Given the description of an element on the screen output the (x, y) to click on. 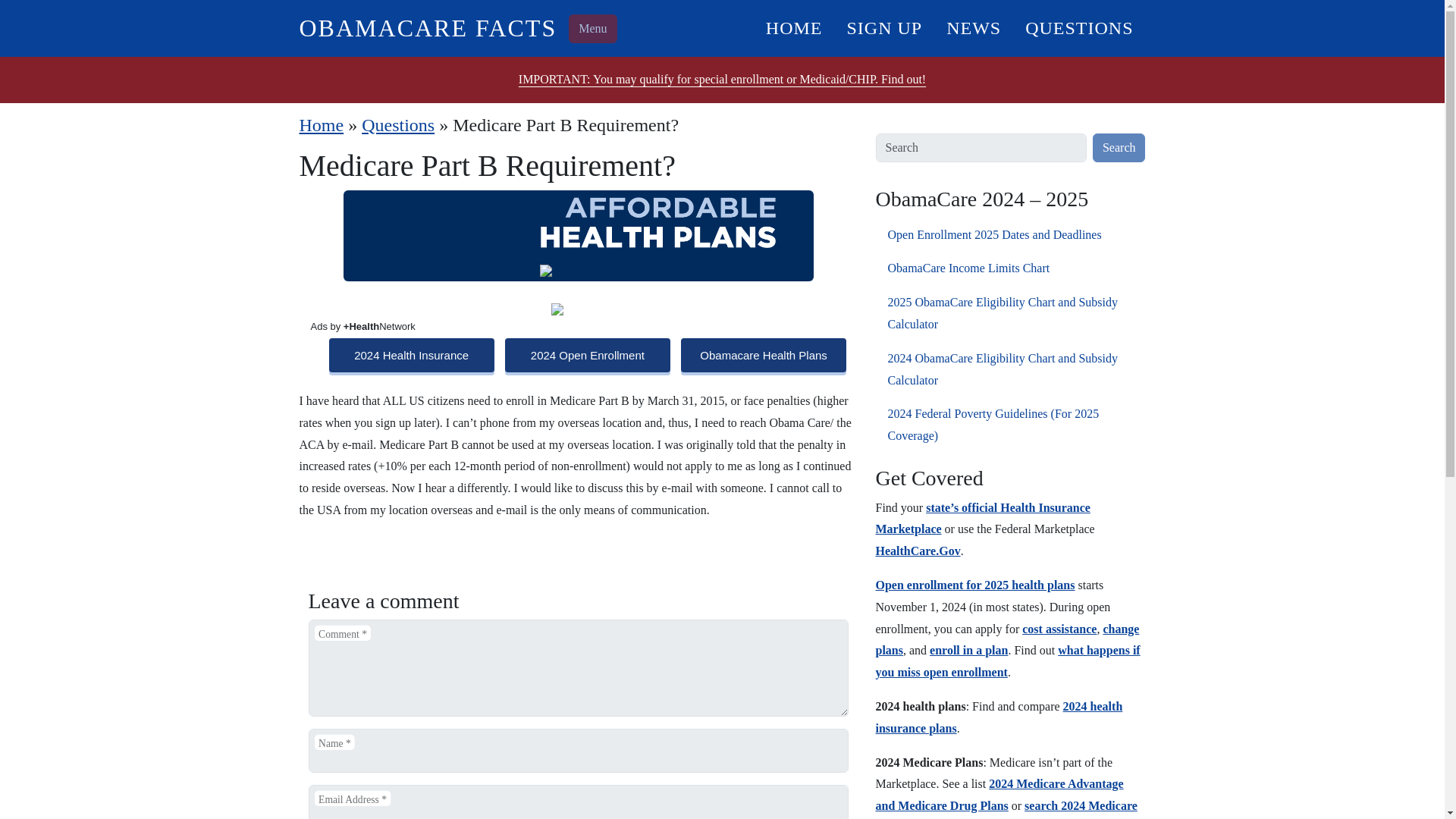
QUESTIONS (1078, 27)
2024 health insurance plans (998, 717)
What happens if you miss open enrollment (1007, 660)
Change Obamacare plans (1006, 639)
Open enrollment for 2025 health plans (974, 584)
OBAMACARE FACTS (427, 28)
2024 Medicare Advantage and Medicare Drug Plans (998, 794)
HOME (794, 27)
Enroll in an Obamacare plan (968, 649)
